Given the description of an element on the screen output the (x, y) to click on. 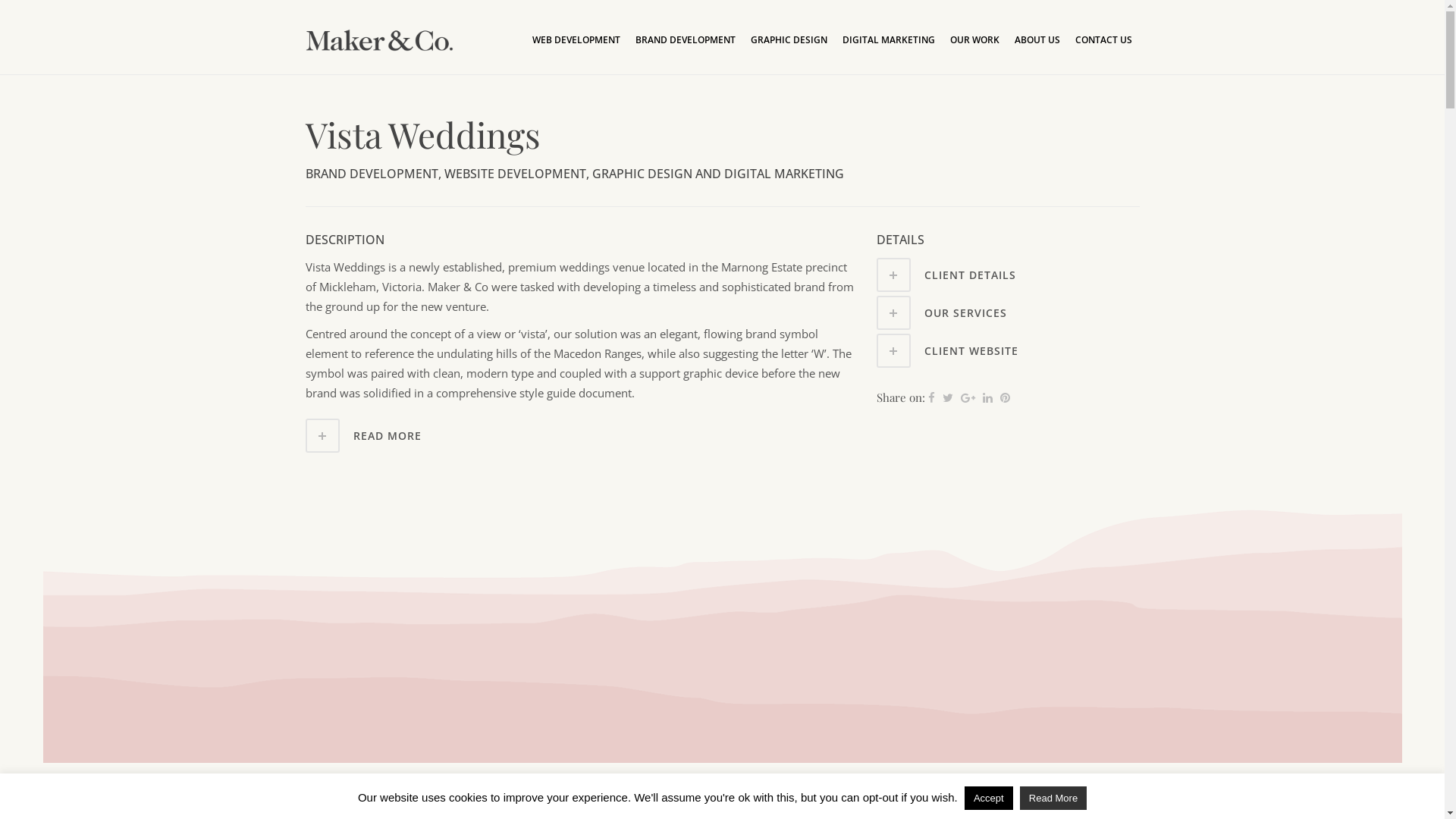
OUR WORK Element type: text (973, 40)
Share on Twitter Element type: hover (947, 396)
BRAND DEVELOPMENT Element type: text (685, 40)
Accept Element type: text (988, 797)
WEB DEVELOPMENT Element type: text (575, 40)
DIGITAL MARKETING Element type: text (887, 40)
Share on Google+ Element type: hover (967, 396)
CONTACT US Element type: text (1103, 40)
Share on Pinterest Element type: hover (1005, 396)
Share on LinkedIn Element type: hover (987, 396)
GRAPHIC DESIGN Element type: text (788, 40)
Read More Element type: text (1052, 797)
ABOUT US Element type: text (1037, 40)
Share on Facebook Element type: hover (931, 396)
